Given the description of an element on the screen output the (x, y) to click on. 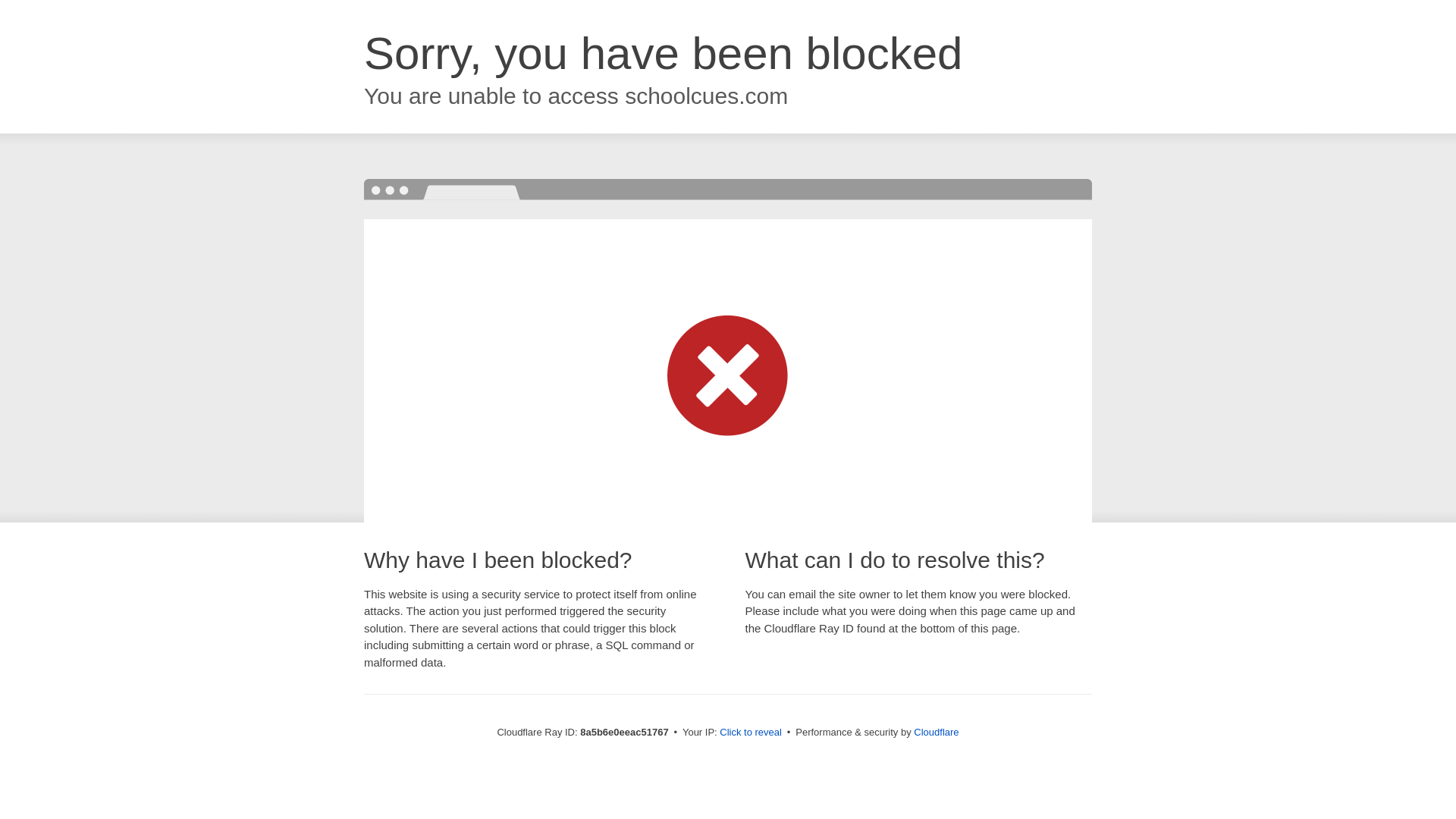
Cloudflare (936, 731)
Click to reveal (750, 732)
